Given the description of an element on the screen output the (x, y) to click on. 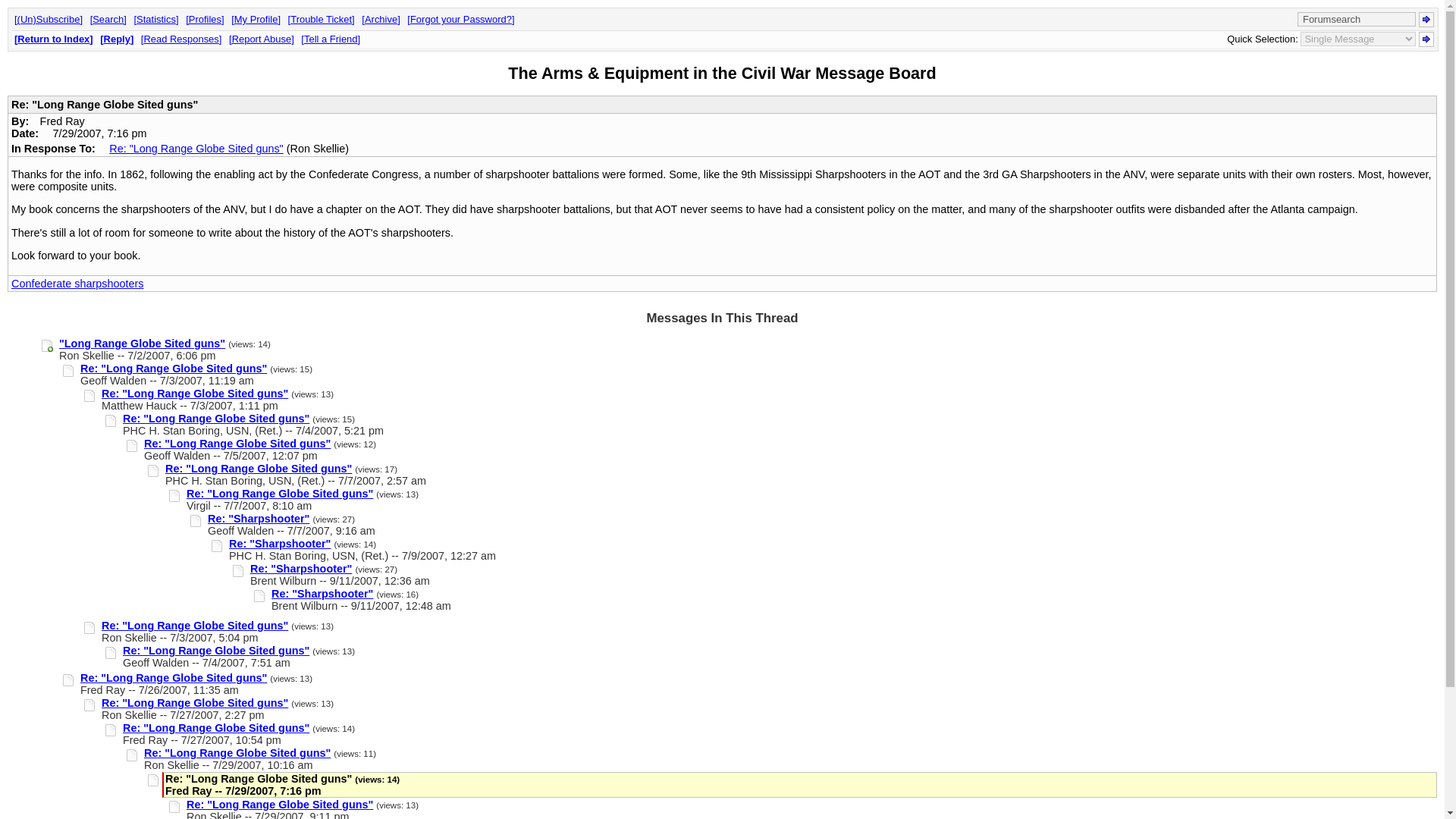
Re: "Sharpshooter" (321, 593)
Reply (116, 39)
Trouble Ticket (321, 19)
Read Responses (181, 39)
Forgot your Password? (460, 19)
Re: "Long Range Globe Sited guns" (279, 804)
Return to Index (53, 39)
Re: "Long Range Globe Sited guns" (194, 393)
Submit (1426, 38)
